Given the description of an element on the screen output the (x, y) to click on. 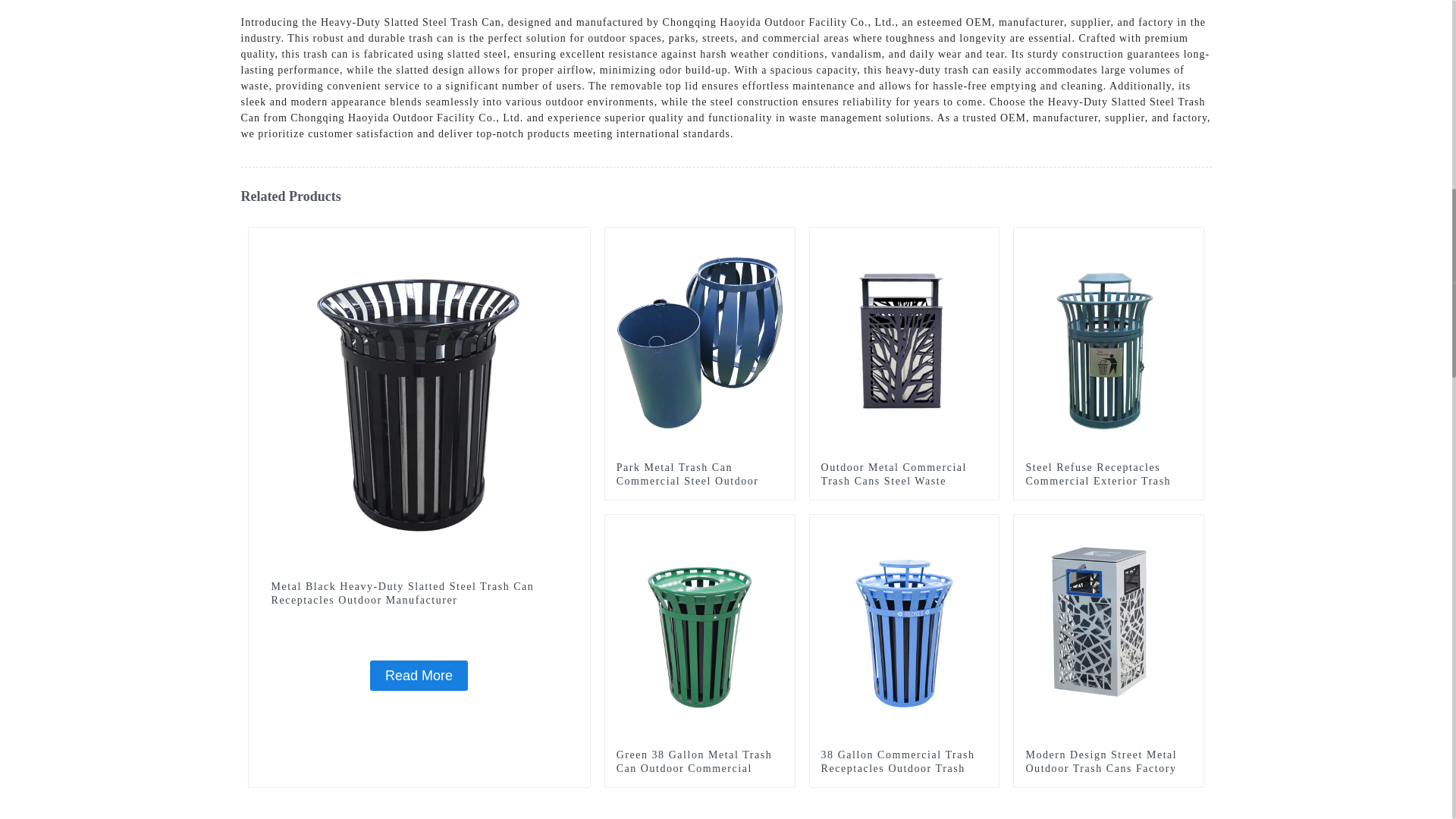
Park Metal Trash Can Commercial Steel Outdoor Refuse Bins (699, 340)
Park Metal Trash Can Commercial Steel Outdoor Refuse Bins (699, 481)
Outdoor Metal Commercial Trash Cans Steel Waste Receptacles (903, 340)
commercial trash cans (782, 526)
Outdoor Metal Commercial Trash Cans Steel Waste Receptacles (904, 481)
Outdoor Metal Commercial Trash Cans Steel Waste Receptacles (904, 481)
Park Metal Trash Can Commercial Steel Outdoor Refuse Bins (699, 481)
